Given the description of an element on the screen output the (x, y) to click on. 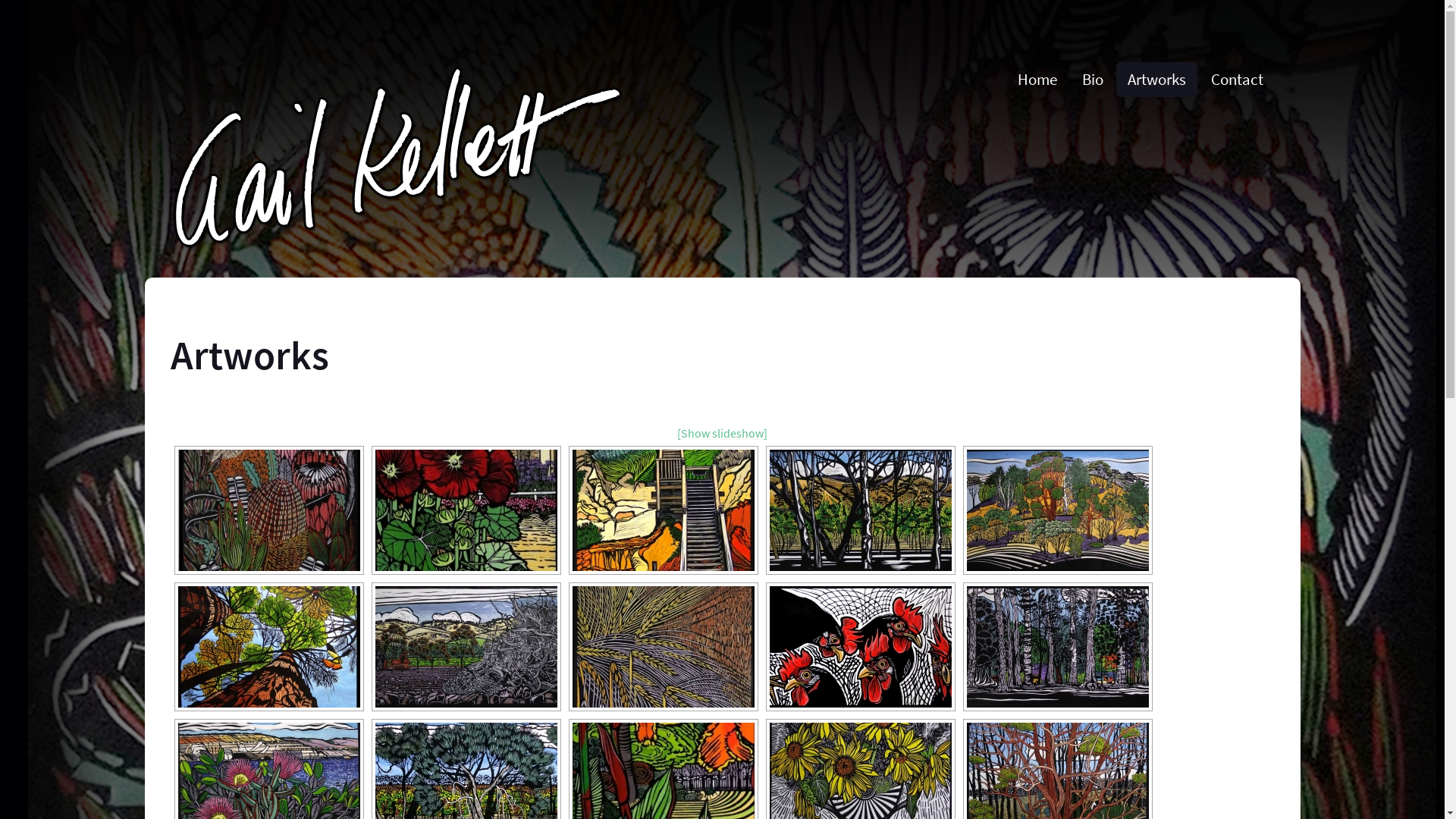
Towards The Forest Canopy | 80cm w x 80cm h Element type: hover (268, 646)
Look At Me | 74cm w x 39cm h Element type: hover (859, 646)
Contact Element type: text (1236, 79)
Home Element type: text (1037, 79)
Coastal Walkway | 40cm w x 70cm h Element type: hover (662, 510)
Chalk Hill | 100cm w x 70cm h Element type: hover (1057, 510)
Vine Pull | 120cm w x 35cm h Element type: hover (465, 646)
Banksias and Proteas | 35cm w x 120cm h Element type: hover (268, 510)
[Show slideshow] Element type: text (722, 432)
Bio Element type: text (1092, 79)
After The Crop | 35cm w x 100cm h Element type: hover (662, 646)
Along Little Road | 70cm w x 40cm h Element type: hover (859, 510)
Churchyard Hollyhocks | 35cm w x 120cm h Element type: hover (465, 510)
Botanic Pines | 99cm w x 52cm h Element type: hover (1057, 646)
Artworks Element type: text (1156, 79)
